Given the description of an element on the screen output the (x, y) to click on. 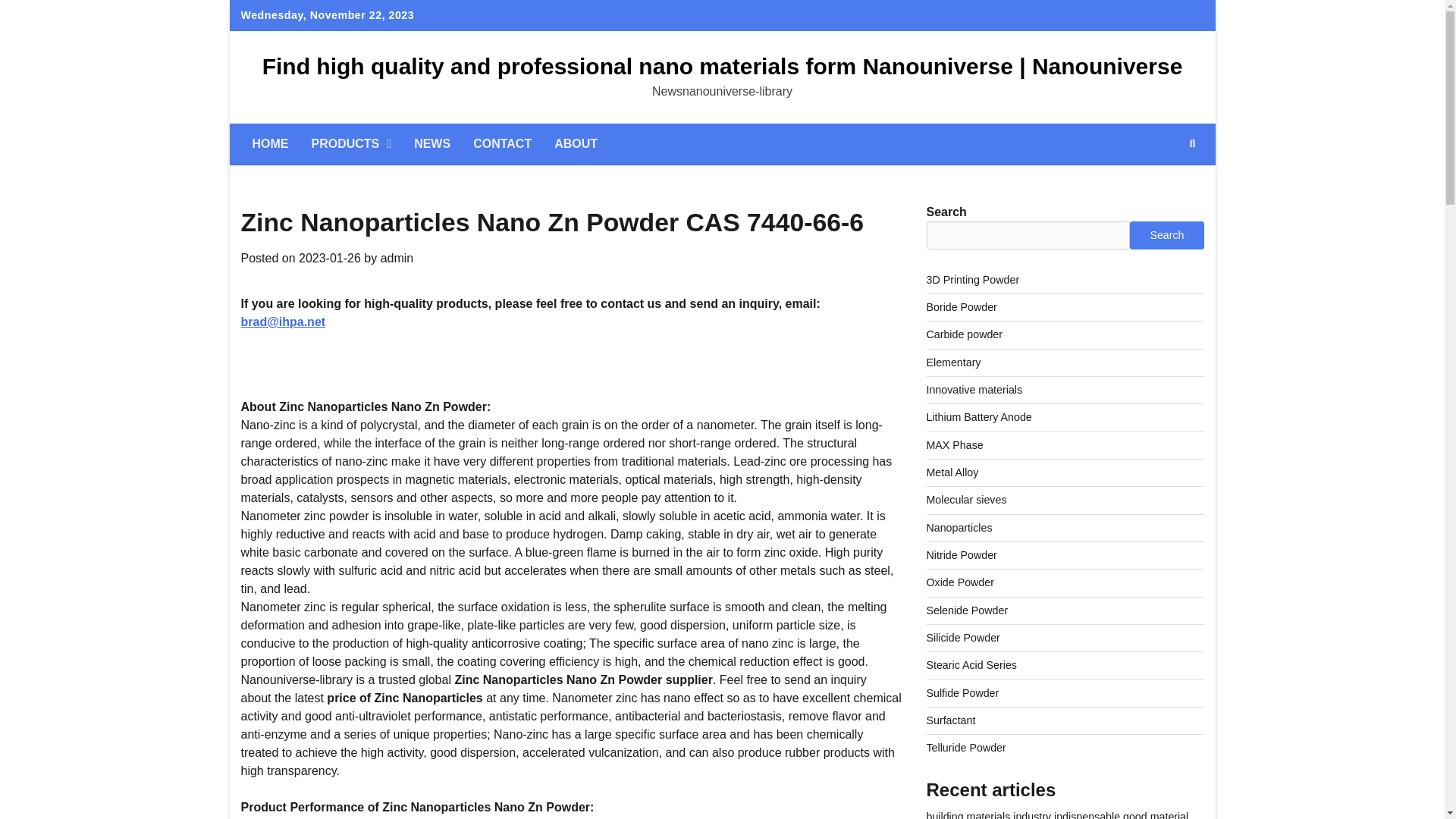
ABOUT (575, 143)
2023-01-26 (329, 257)
HOME (270, 143)
Search (1192, 143)
CONTACT (502, 143)
admin (396, 257)
NEWS (432, 143)
Search (1164, 179)
PRODUCTS (351, 143)
